Given the description of an element on the screen output the (x, y) to click on. 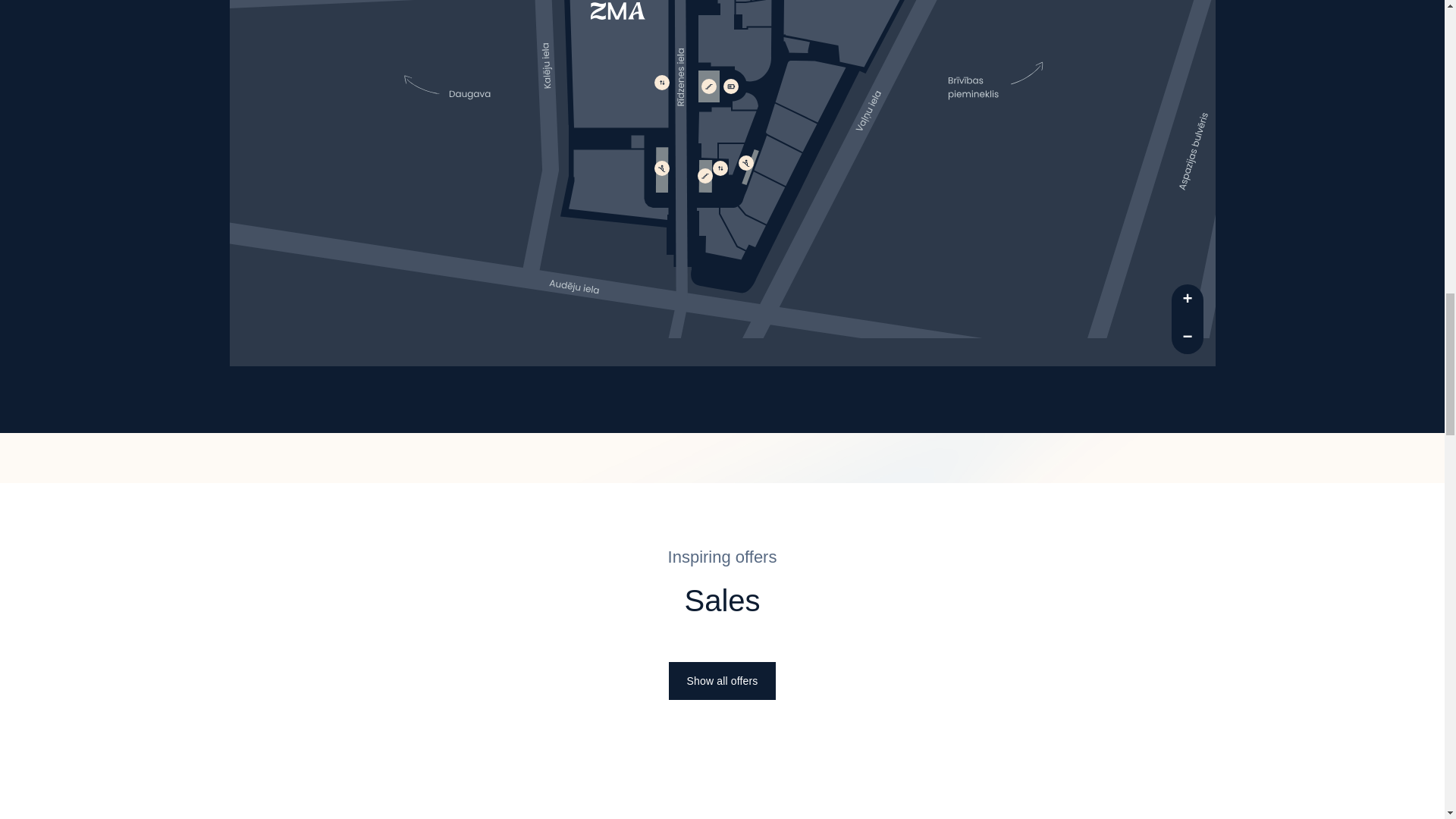
Zoom out (1186, 336)
Zoom in (1186, 299)
Show all offers (722, 679)
